Given the description of an element on the screen output the (x, y) to click on. 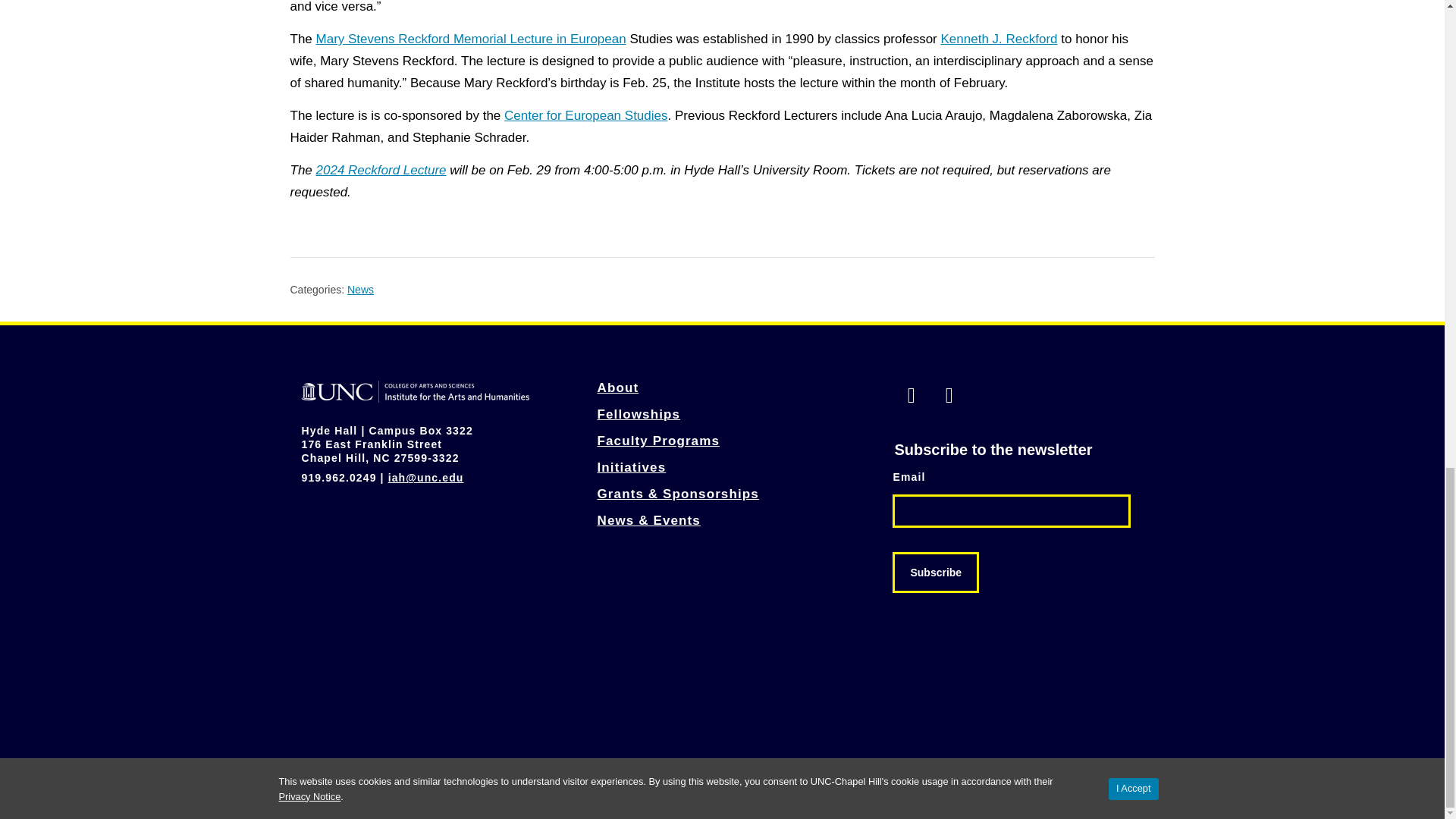
Subscribe (935, 572)
